Given the description of an element on the screen output the (x, y) to click on. 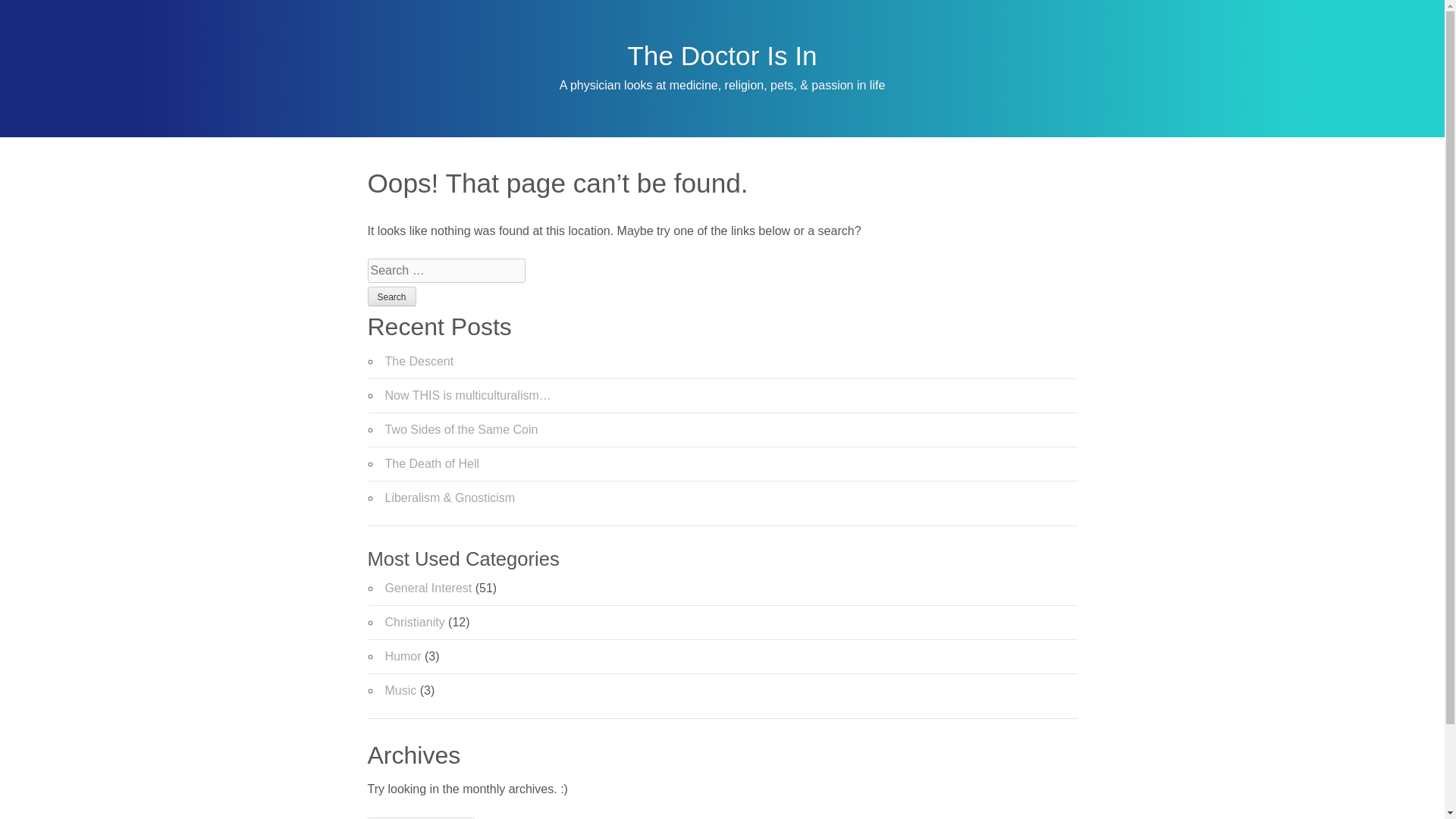
Humor (403, 656)
Search (390, 296)
Search (390, 296)
The Doctor Is In (721, 55)
Two Sides of the Same Coin (461, 429)
Search (390, 296)
The Descent (419, 360)
The Death of Hell (432, 463)
General Interest (428, 587)
Christianity (415, 621)
Music (400, 689)
